Given the description of an element on the screen output the (x, y) to click on. 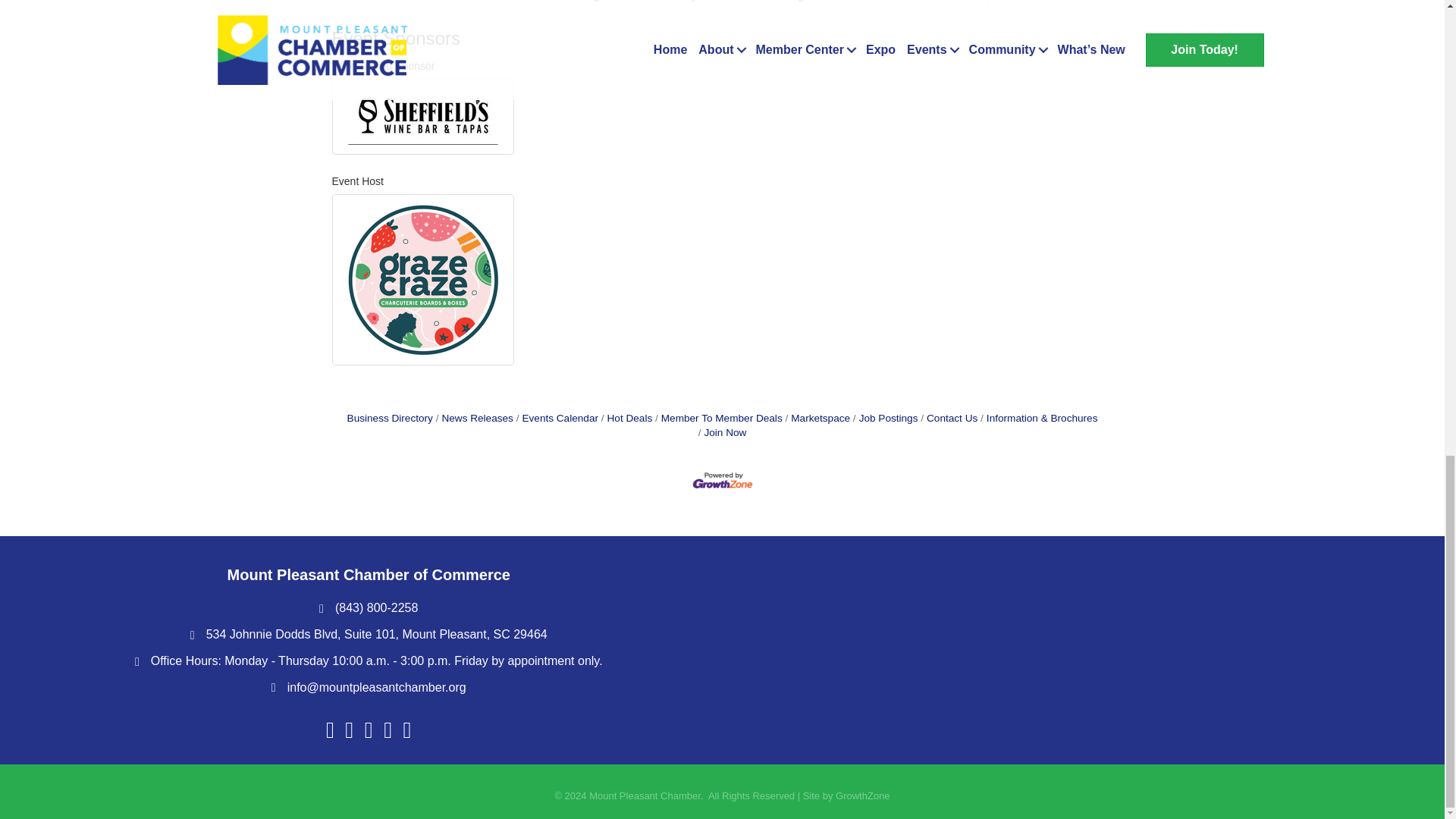
Business Directory (389, 418)
News Releases (474, 418)
